Given the description of an element on the screen output the (x, y) to click on. 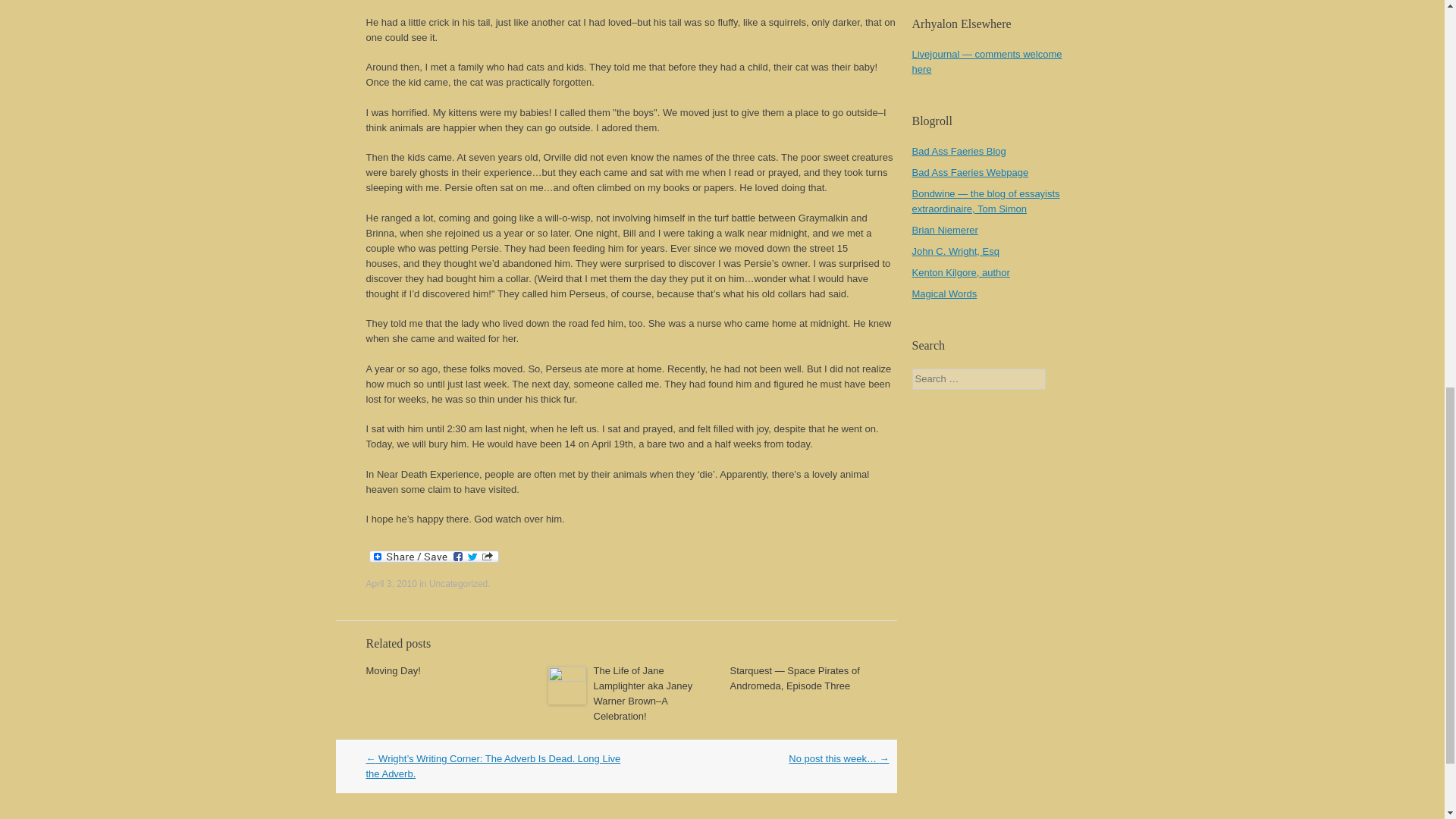
Website featuring the Bad Ass Faeries Anthology Series (969, 172)
Website of author Kenton Kilgore (960, 272)
Uncategorized (458, 583)
April 3, 2010 (390, 583)
Permalink to Moving Day! (392, 670)
Moving Day! (392, 670)
The blog of author Brian Niemerer (943, 229)
Mr. Superversive himself (985, 201)
